Given the description of an element on the screen output the (x, y) to click on. 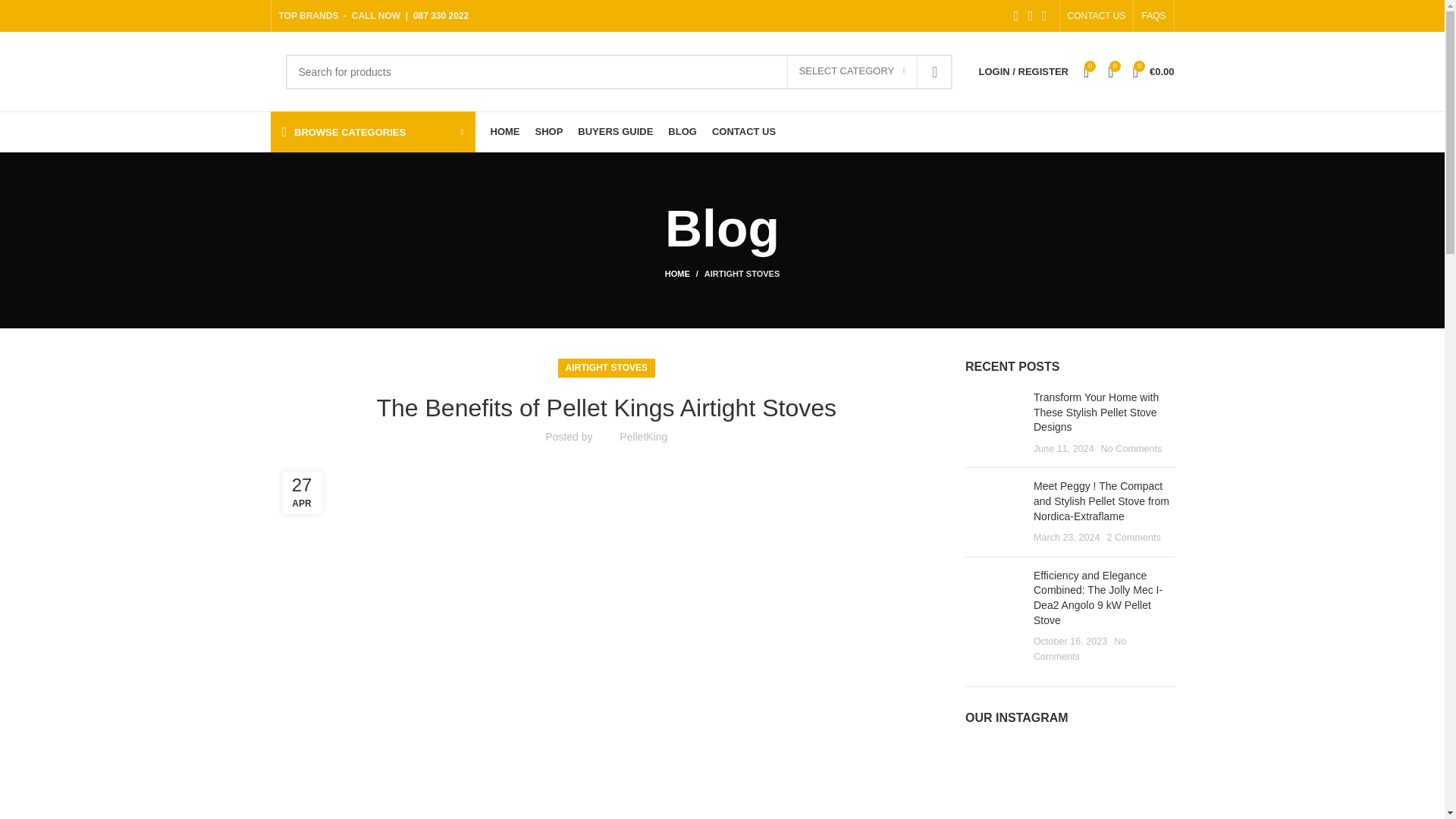
My account (1023, 71)
087 330 2022 (440, 15)
Shopping cart (1153, 71)
CONTACT US (1096, 15)
SELECT CATEGORY (852, 71)
SELECT CATEGORY (852, 71)
Search for products (618, 71)
